Given the description of an element on the screen output the (x, y) to click on. 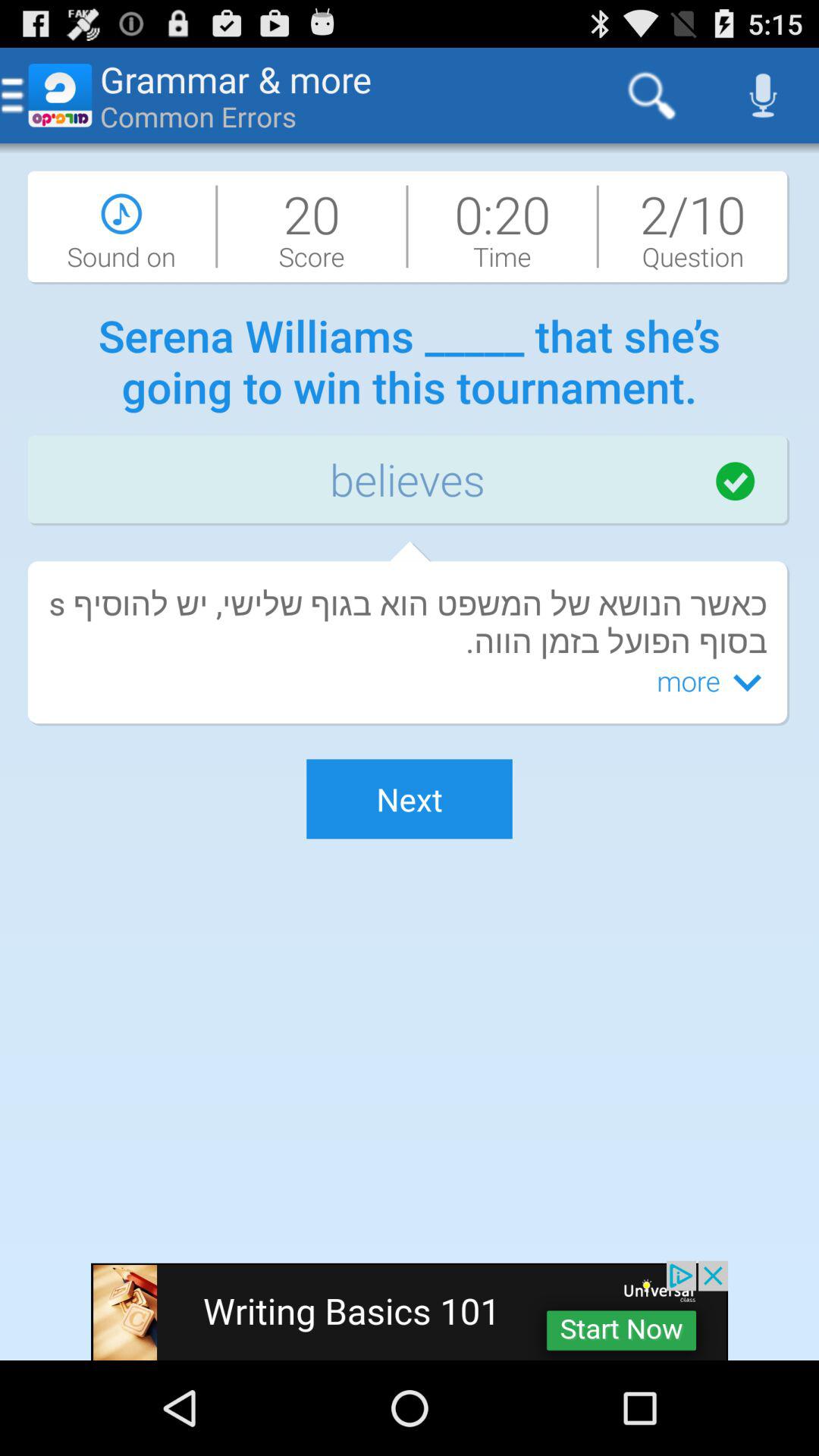
click on the mike (763, 95)
